Given the description of an element on the screen output the (x, y) to click on. 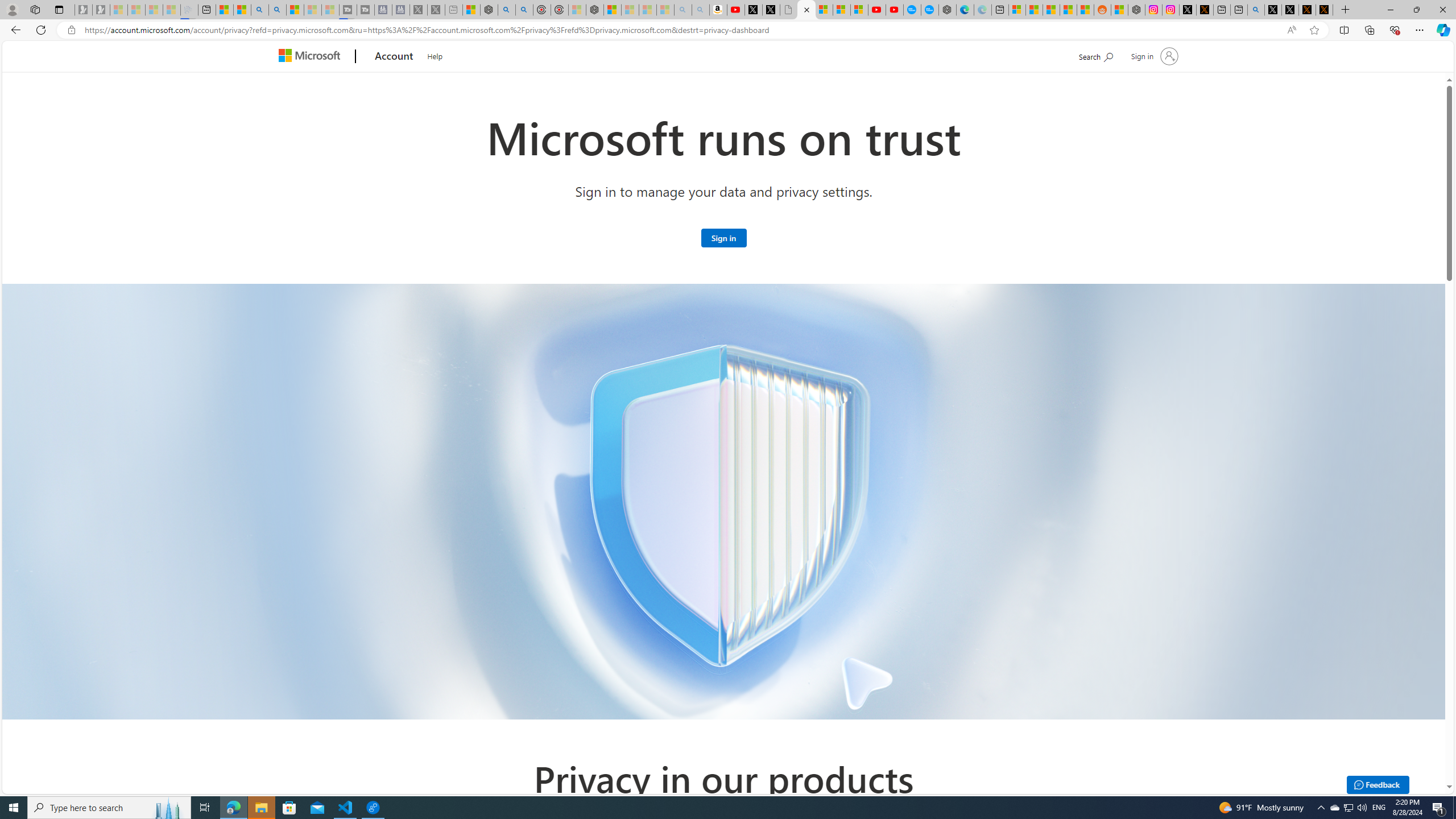
X Privacy Policy (1324, 9)
Nordace - Nordace Siena Is Not An Ordinary Backpack (594, 9)
poe ++ standard - Search (524, 9)
Shanghai, China hourly forecast | Microsoft Weather (1051, 9)
Untitled (788, 9)
